Given the description of an element on the screen output the (x, y) to click on. 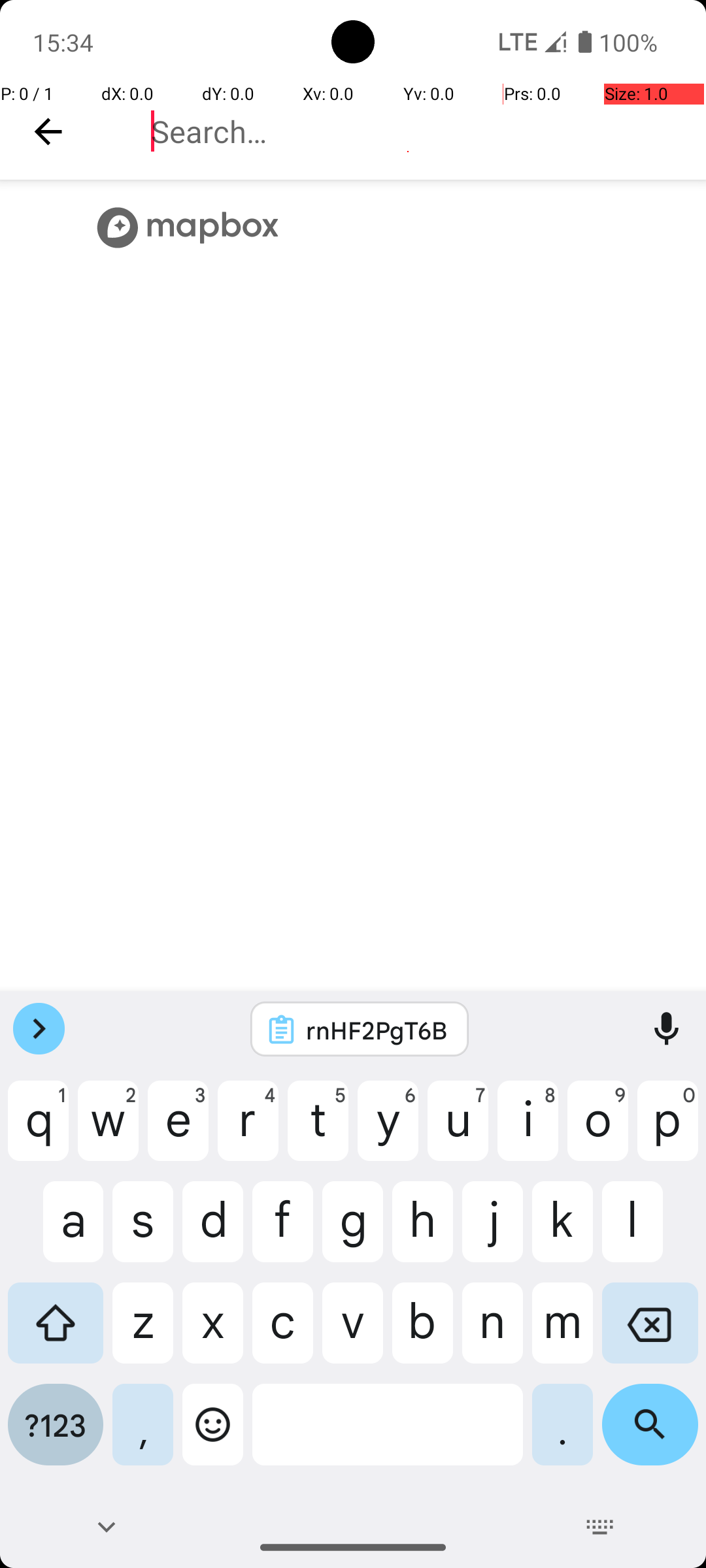
rnHF2PgT6B Element type: android.widget.TextView (376, 1029)
